Given the description of an element on the screen output the (x, y) to click on. 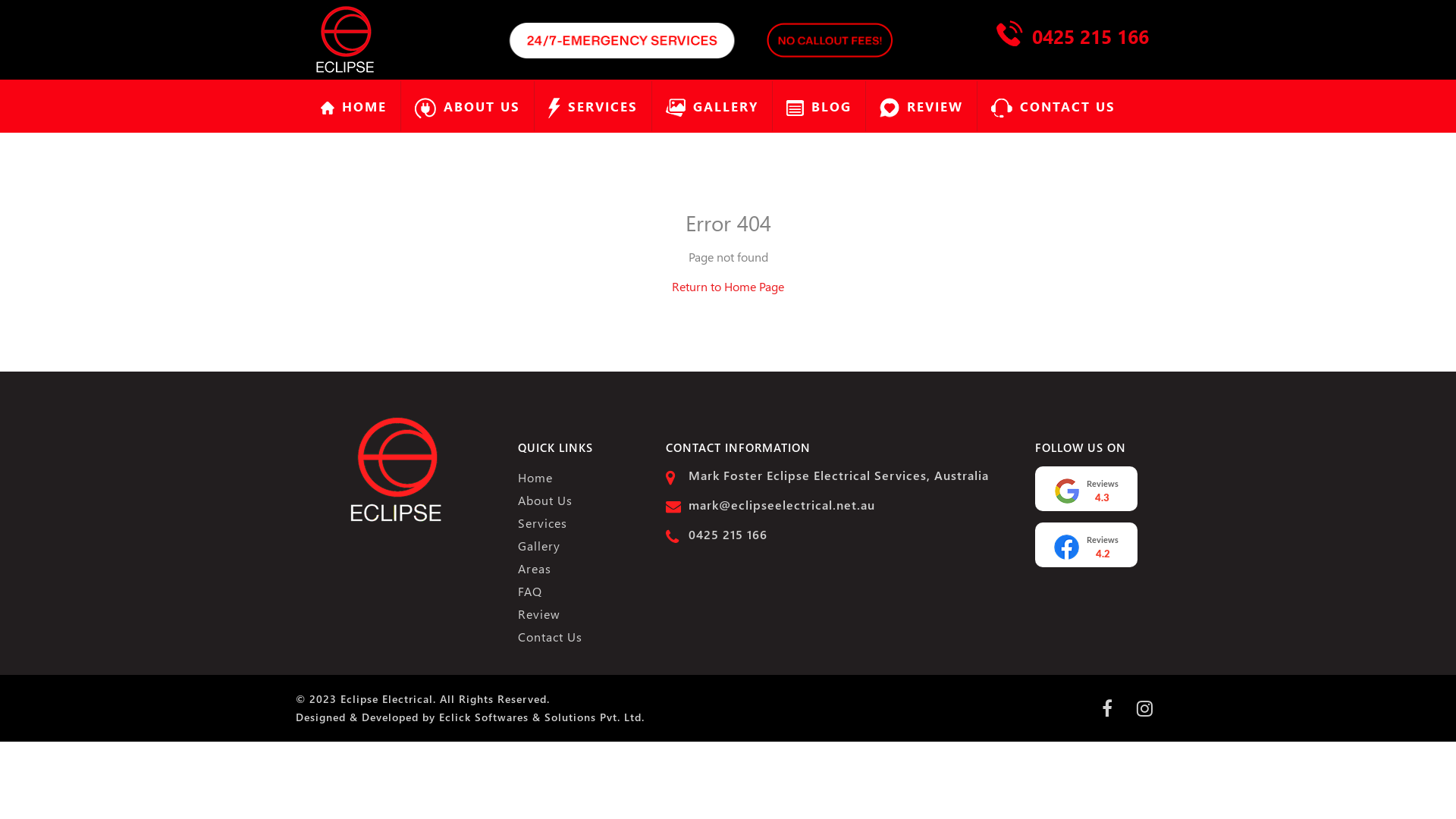
About Us Element type: text (579, 500)
Review Element type: text (579, 613)
Contact Us Element type: text (579, 636)
Reviews
4.3 Element type: text (1086, 488)
ABOUT US Element type: text (467, 106)
CONTACT US Element type: text (1053, 106)
Return to Home Page Element type: text (727, 286)
Areas Element type: text (579, 568)
GALLERY Element type: text (711, 106)
0425 215 166 Element type: text (1090, 35)
Services Element type: text (579, 522)
FAQ Element type: text (579, 591)
REVIEW Element type: text (921, 106)
BLOG Element type: text (818, 106)
Eclipse Electrical Element type: text (386, 699)
Home Element type: text (579, 477)
SERVICES Element type: text (592, 106)
HOME Element type: text (353, 106)
Eclick Softwares & Solutions Pvt. Ltd. Element type: text (541, 717)
Gallery Element type: text (579, 545)
mark@eclipseelectrical.net.au Element type: text (781, 504)
Reviews
4.2 Element type: text (1086, 544)
0425 215 166 Element type: text (727, 534)
